Given the description of an element on the screen output the (x, y) to click on. 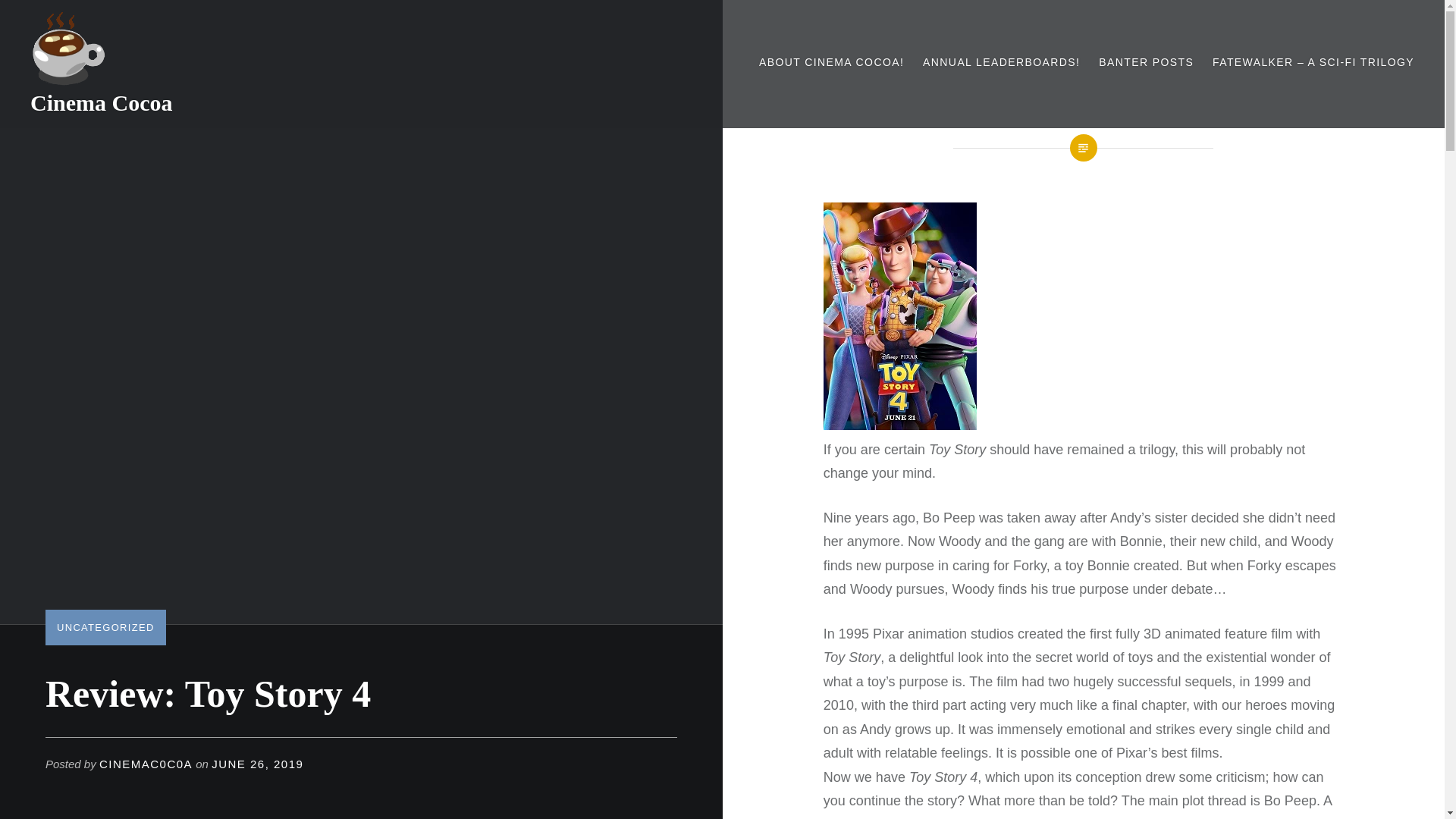
JUNE 26, 2019 (256, 763)
CINEMAC0C0A (145, 763)
UNCATEGORIZED (105, 627)
ANNUAL LEADERBOARDS! (1001, 62)
ABOUT CINEMA COCOA! (831, 62)
Cinema Cocoa (100, 102)
BANTER POSTS (1146, 62)
